Given the description of an element on the screen output the (x, y) to click on. 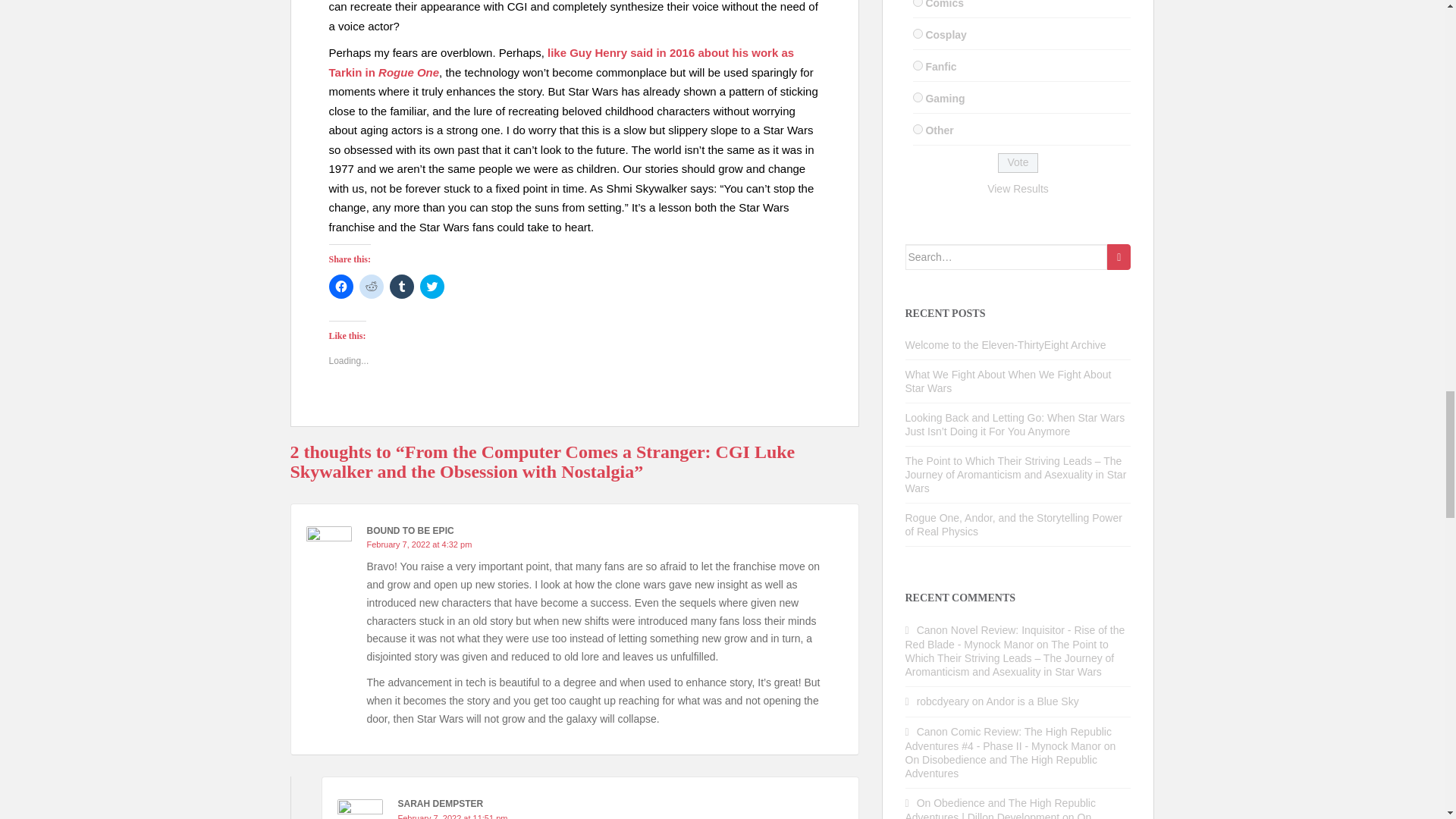
Click to share on Tumblr (401, 286)
   Vote    (1017, 162)
February 7, 2022 at 11:51 pm (451, 816)
Click to share on Facebook (341, 286)
Search for: (1006, 257)
Click to share on Reddit (371, 286)
February 7, 2022 at 4:32 pm (418, 543)
79 (917, 3)
View Results Of This Poll (1017, 188)
